Given the description of an element on the screen output the (x, y) to click on. 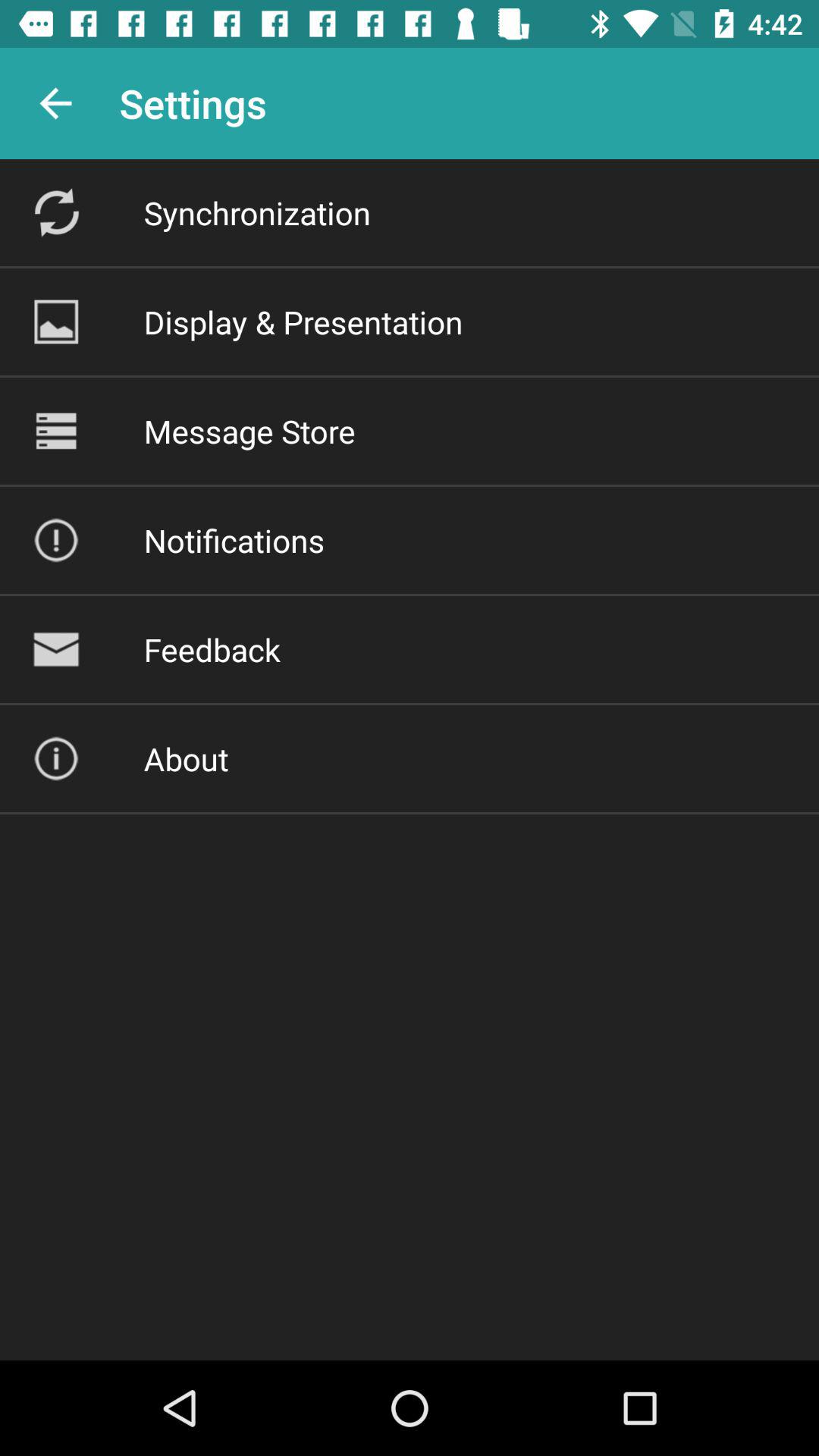
choose notifications (233, 539)
